Given the description of an element on the screen output the (x, y) to click on. 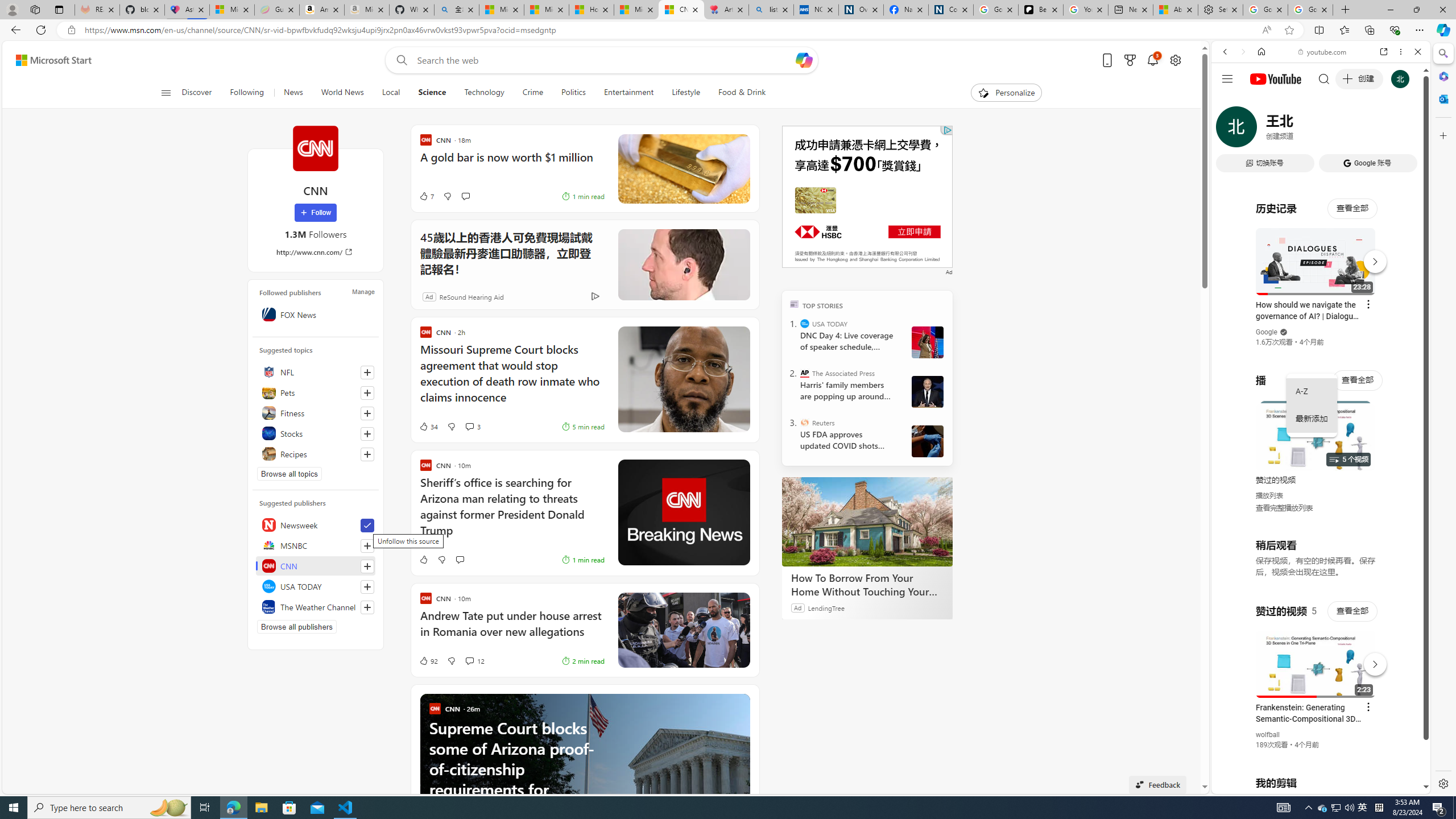
The Weather Channel (315, 606)
Follow this topic (367, 454)
Class: button-glyph (165, 92)
YouTube - YouTube (1315, 560)
USA TODAY (804, 323)
Food & Drink (741, 92)
Fitness (315, 412)
Search Filter, Search Tools (1350, 129)
Manage (362, 291)
